Given the description of an element on the screen output the (x, y) to click on. 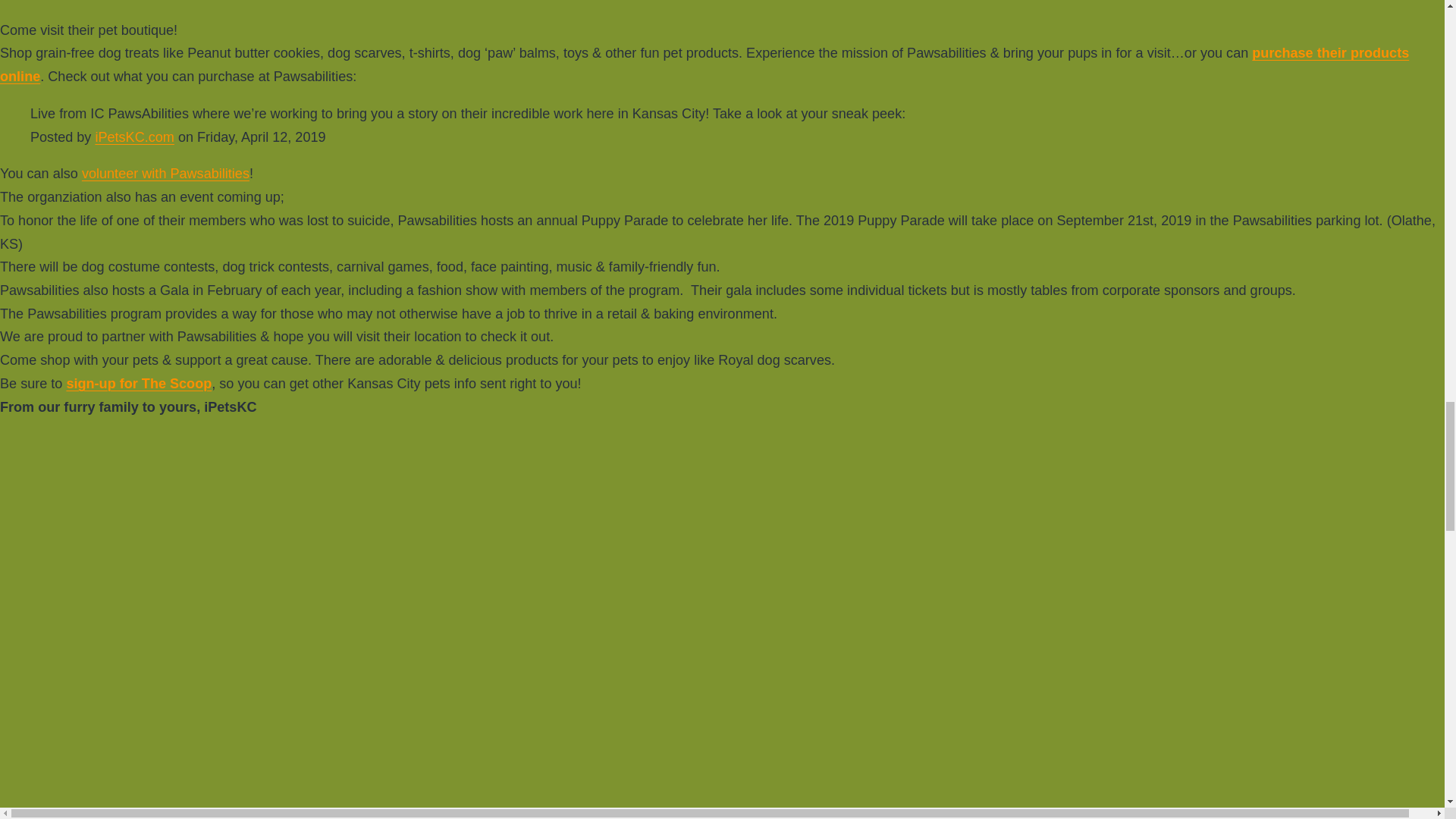
purchase their products online (704, 64)
iPetsKC.com (133, 136)
volunteer with Pawsabilities (164, 173)
sign-up for The Scoop (138, 383)
